Given the description of an element on the screen output the (x, y) to click on. 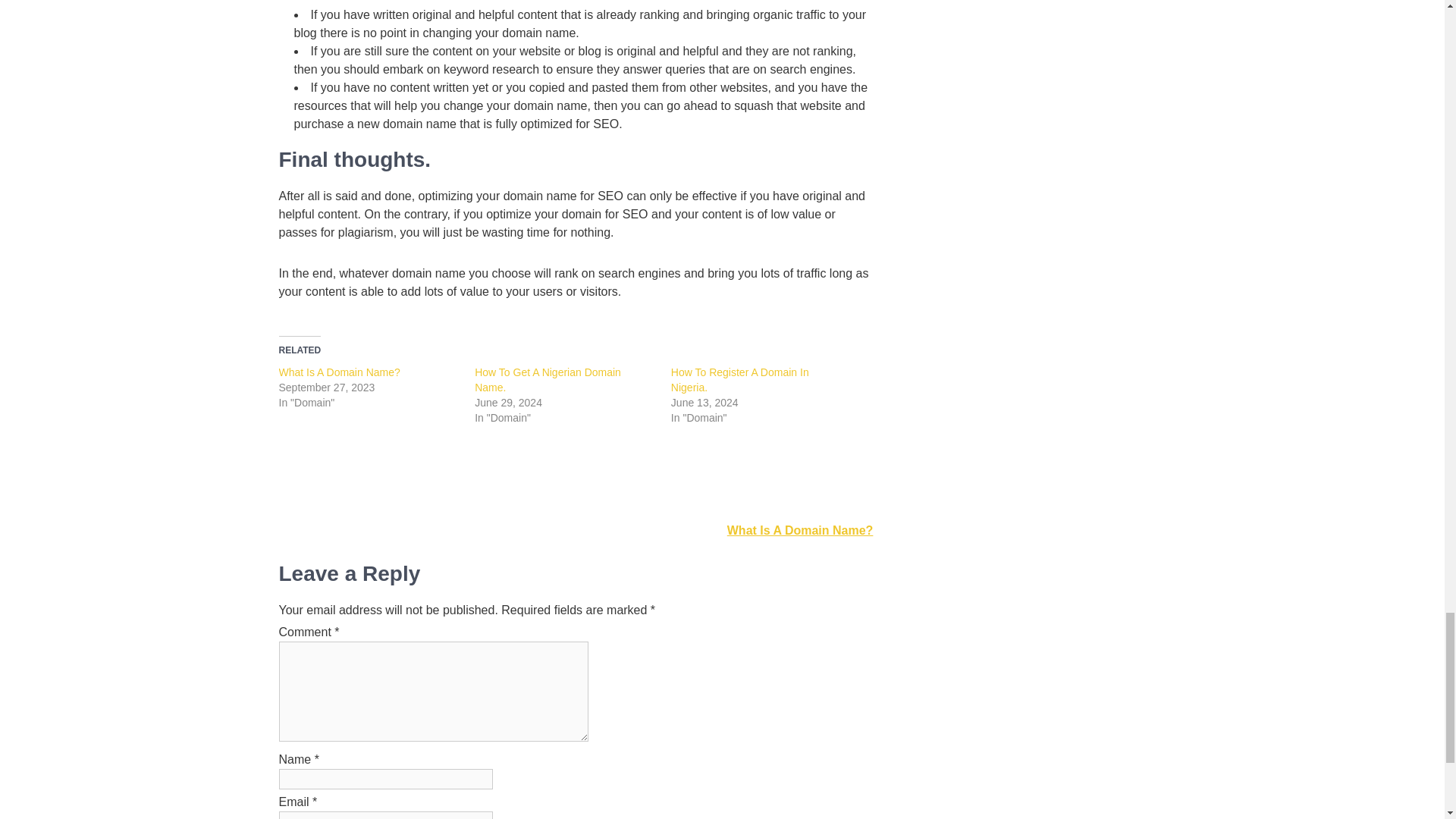
How To Get A Nigerian Domain Name. (547, 379)
How To Register A Domain In Nigeria. (740, 379)
What Is A Domain Name? (339, 372)
What Is A Domain Name? (339, 372)
How To Register A Domain In Nigeria. (740, 379)
What Is A Domain Name? (799, 530)
How To Get A Nigerian Domain Name. (547, 379)
